Given the description of an element on the screen output the (x, y) to click on. 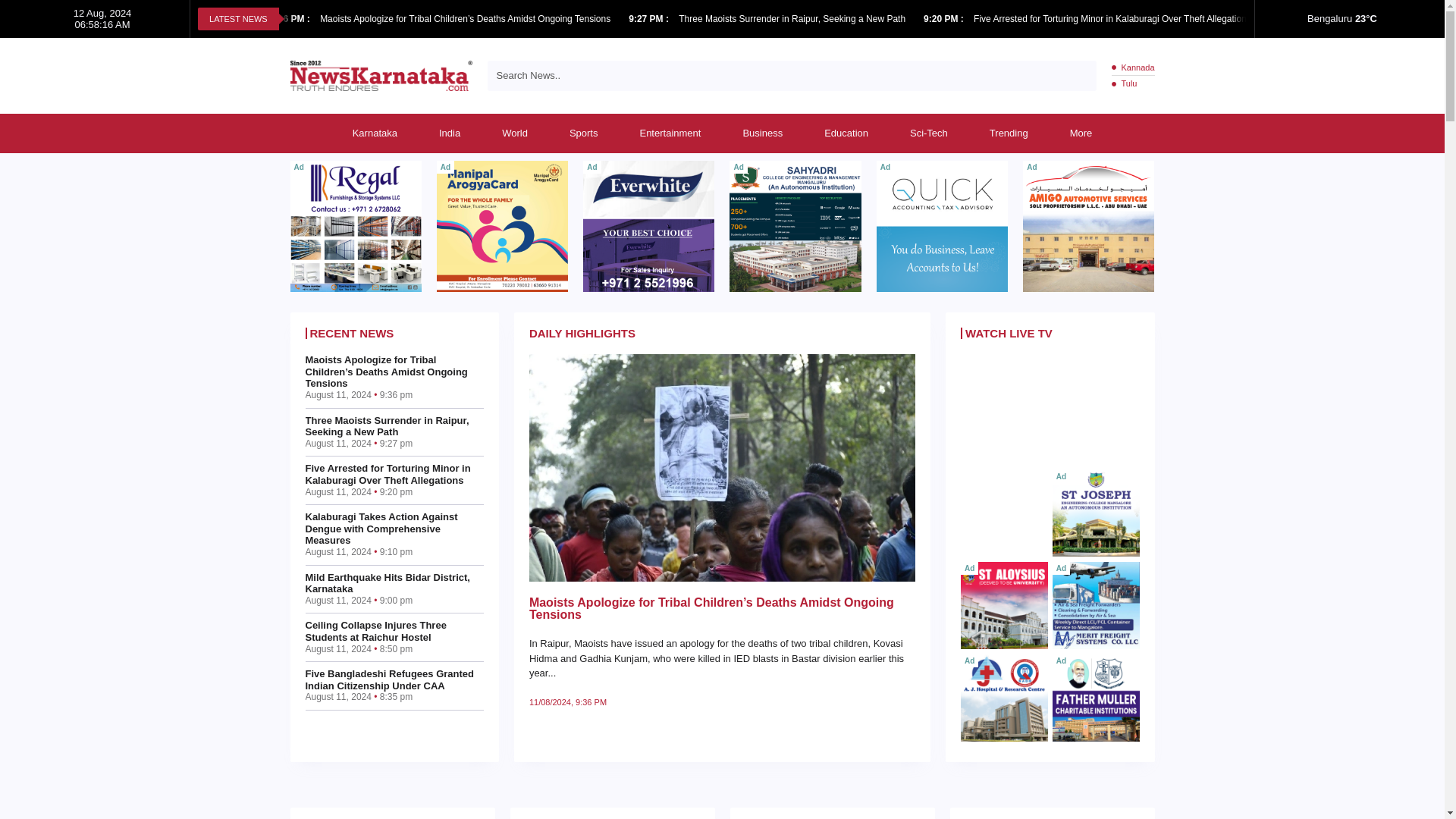
Published on: August 11, 2024 9:36 pm (291, 18)
Published on: August 11, 2024 9:27 pm (649, 18)
Published on: August 11, 2024 9:20 pm (944, 18)
